Given the description of an element on the screen output the (x, y) to click on. 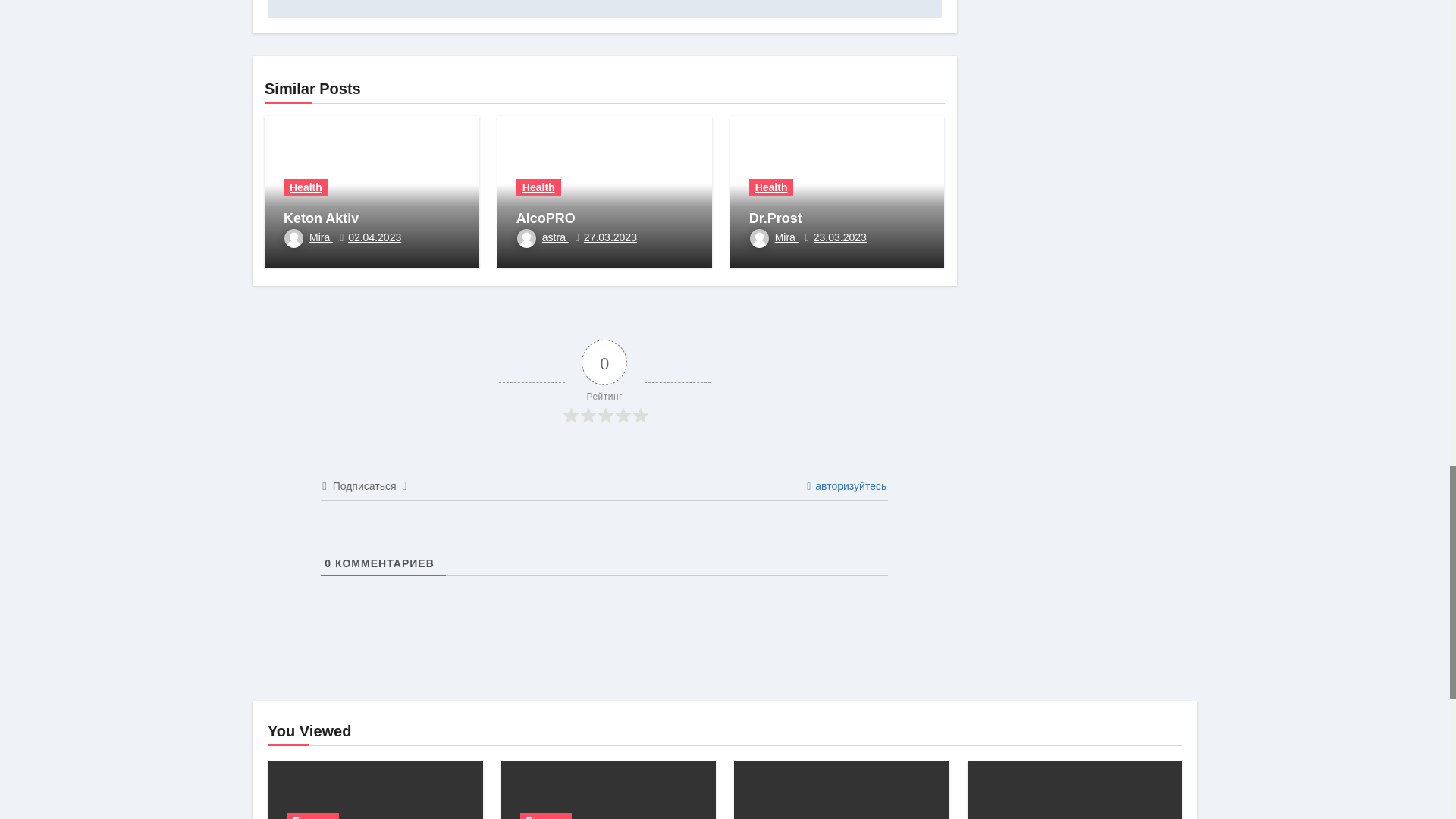
Permalink to: Keton Aktiv (320, 218)
Permalink to: Dr.Prost (775, 218)
Permalink to: AlcoPRO (545, 218)
Health (306, 187)
